Given the description of an element on the screen output the (x, y) to click on. 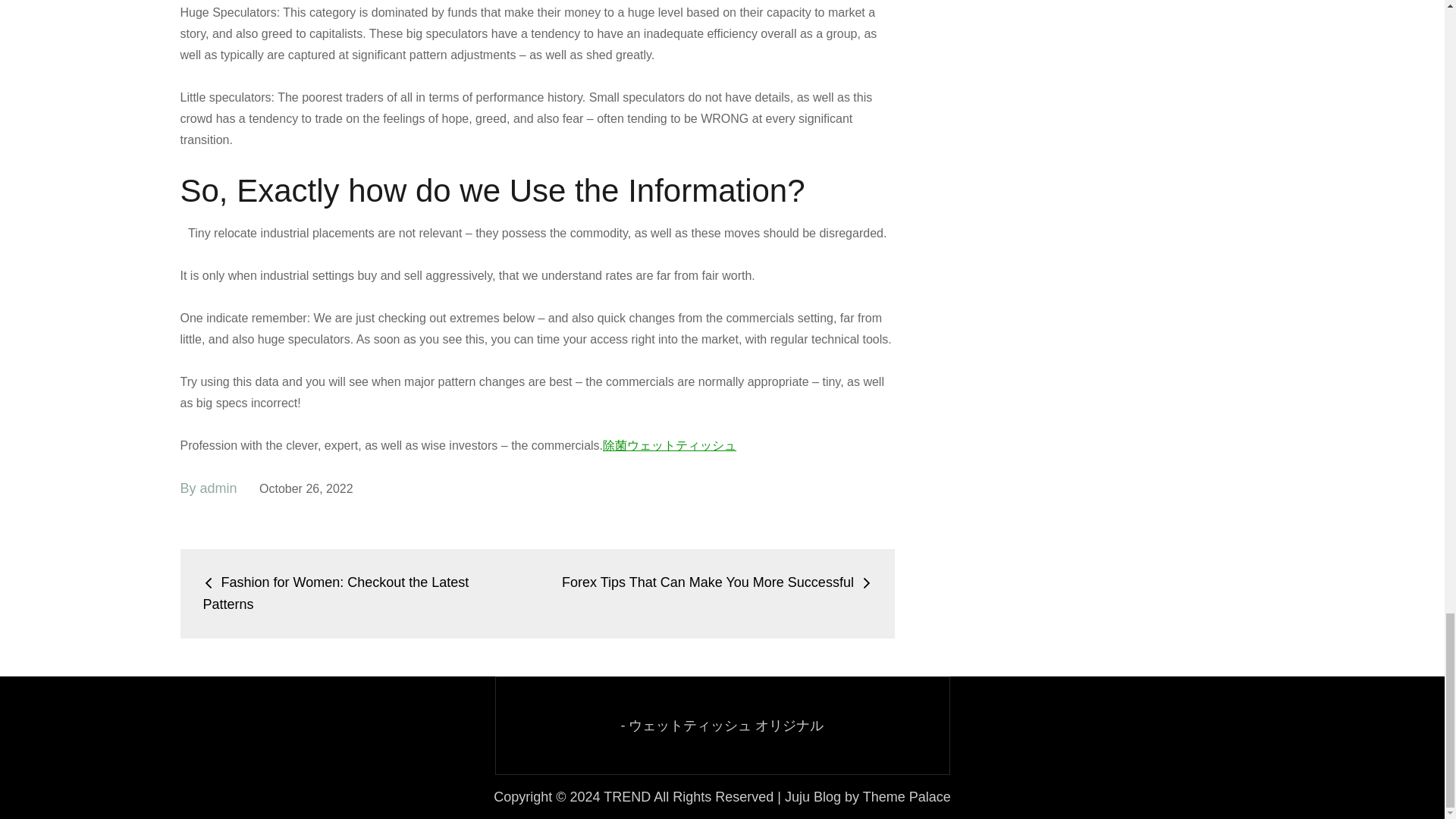
Theme Palace (906, 796)
admin (218, 488)
Forex Tips That Can Make You More Successful (717, 581)
October 26, 2022 (306, 488)
TREND (627, 796)
Fashion for Women: Checkout the Latest Patterns (335, 592)
